Given the description of an element on the screen output the (x, y) to click on. 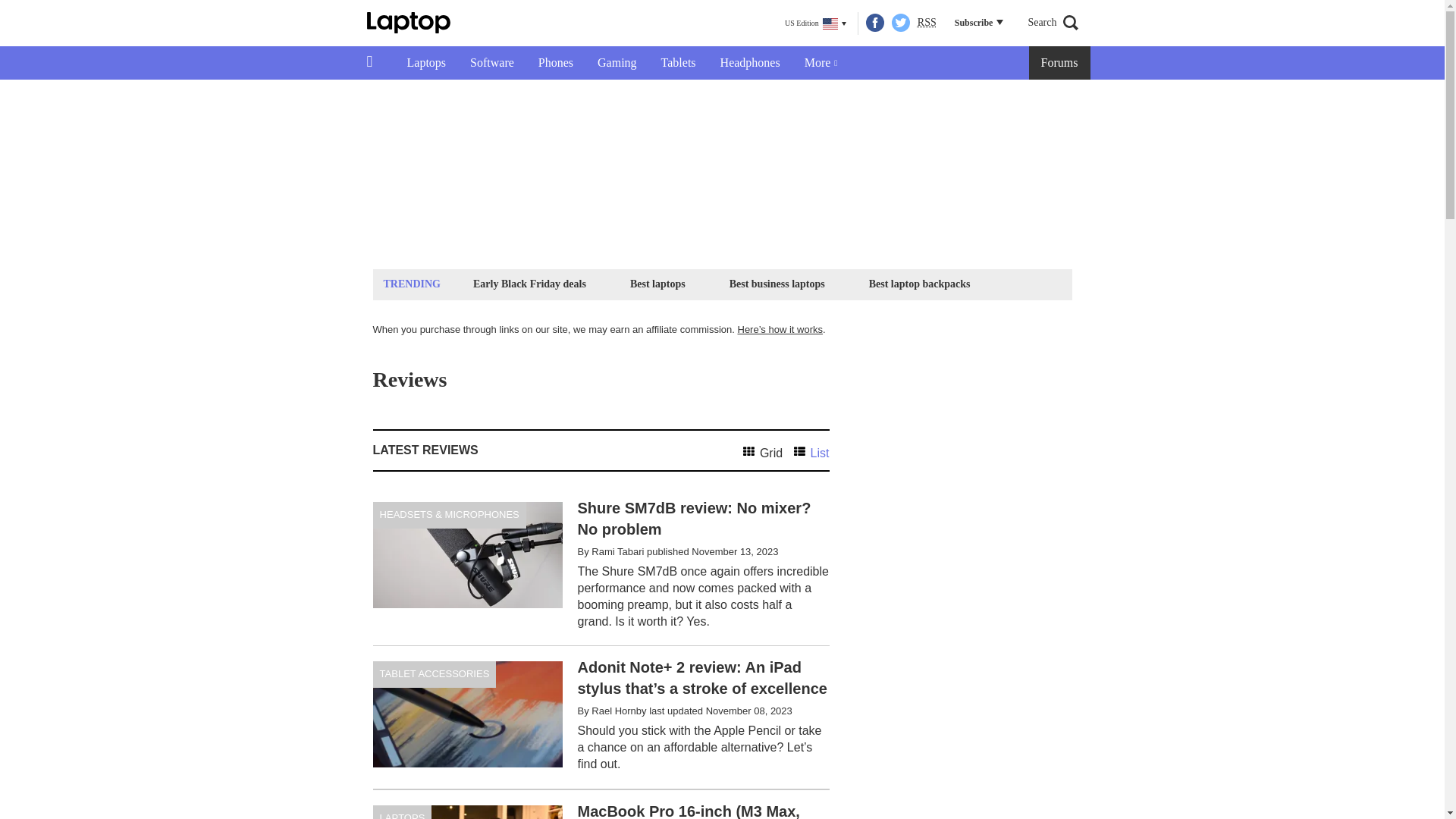
Forums (1059, 62)
Laptops (426, 62)
Best business laptops (776, 283)
Tablets (678, 62)
RSS (926, 22)
Best laptop backpacks (919, 283)
US Edition (815, 23)
Early Black Friday deals (529, 283)
Software (491, 62)
Gaming (617, 62)
Headphones (749, 62)
Phones (555, 62)
Best laptops (657, 283)
Really Simple Syndication (926, 21)
